Given the description of an element on the screen output the (x, y) to click on. 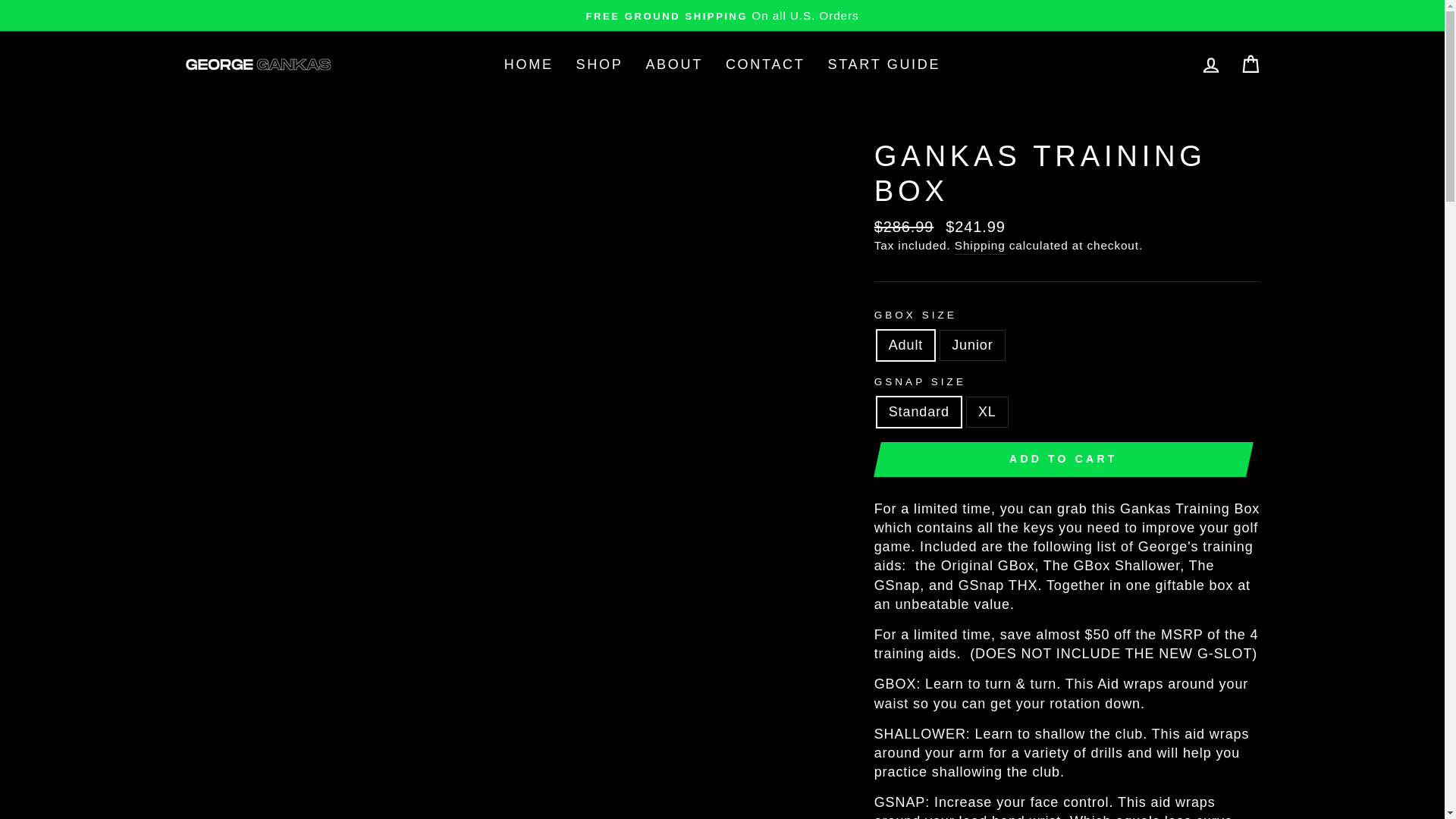
ADD TO CART (1063, 459)
CONTACT (765, 64)
START GUIDE (883, 64)
ABOUT (673, 64)
SHOP (599, 64)
CART (1249, 64)
LOG IN (1210, 64)
Shipping (980, 245)
HOME (528, 64)
